Given the description of an element on the screen output the (x, y) to click on. 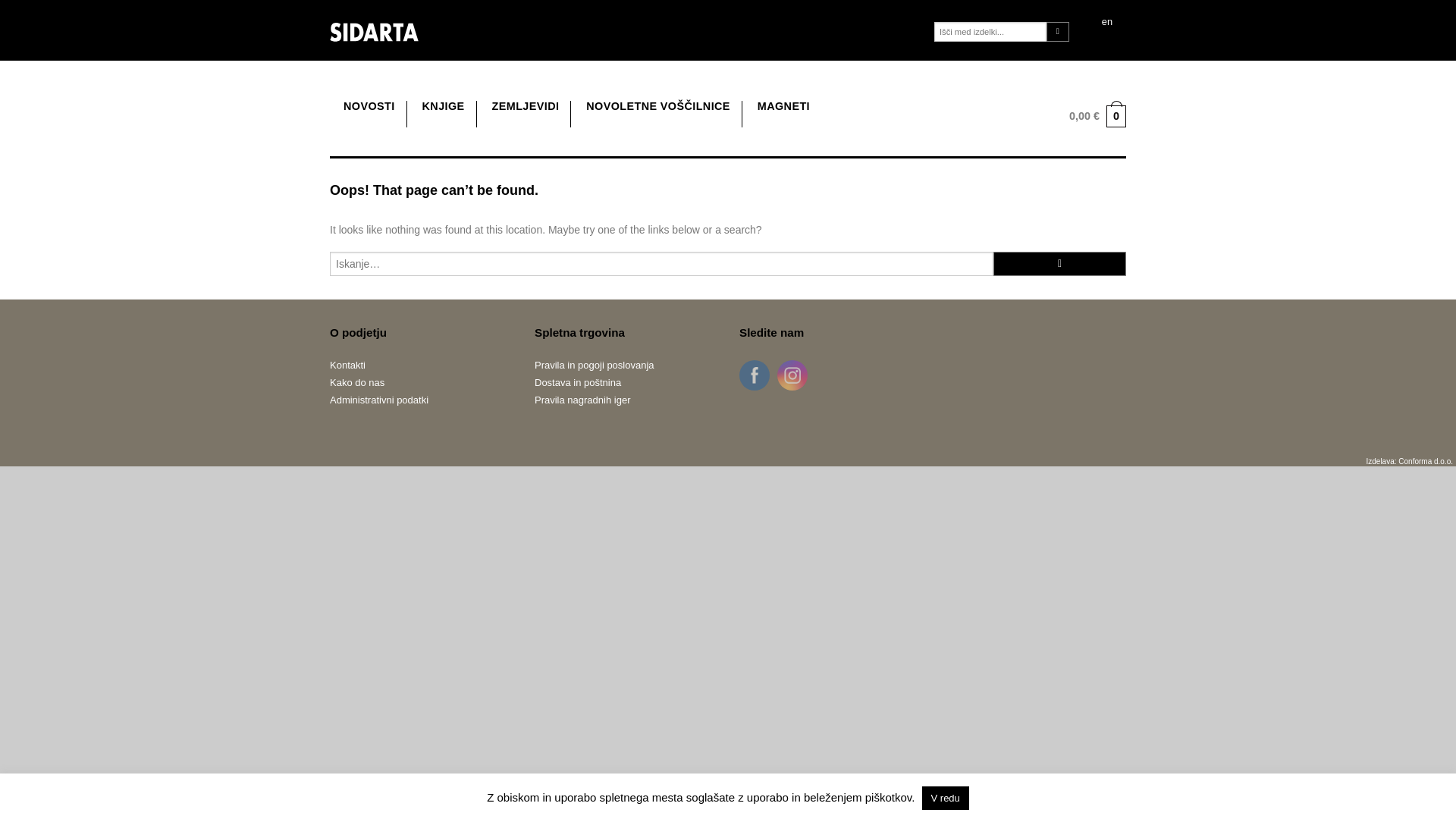
MAGNETI (783, 105)
ZEMLJEVIDI (525, 105)
en (1106, 22)
Pravila nagradnih iger (625, 399)
Administrativni podatki (421, 399)
Facebook (753, 375)
Pravila in pogoji poslovanja (625, 364)
KNJIGE (443, 105)
NOVOSTI (368, 105)
Kako do nas (421, 382)
Kontakti (421, 364)
